Given the description of an element on the screen output the (x, y) to click on. 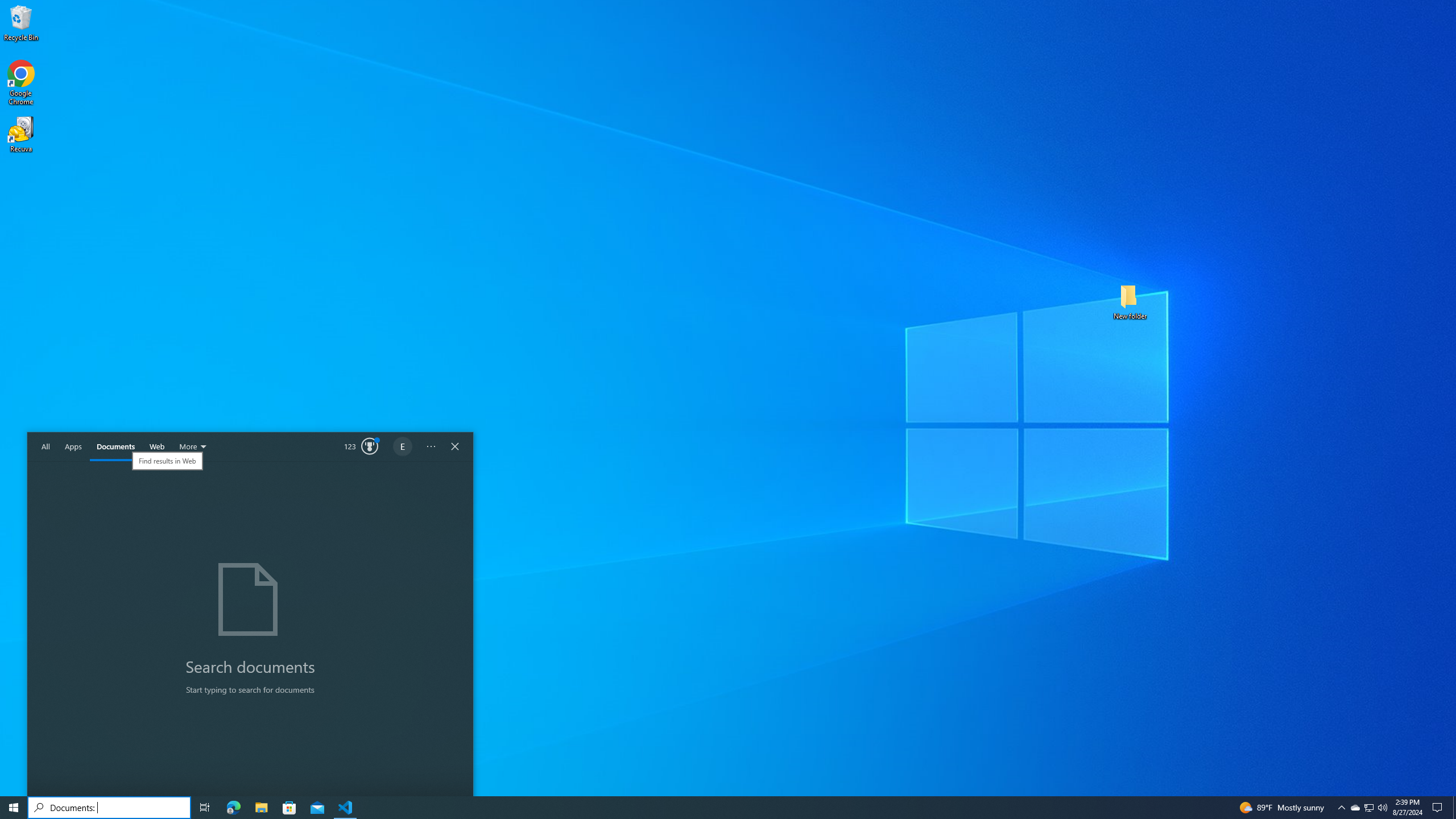
Apps (73, 447)
Find results in Web (167, 460)
Q2790: 100% (1382, 807)
Microsoft Rewards balance: 123 (361, 447)
Close Windows Search (454, 447)
